Given the description of an element on the screen output the (x, y) to click on. 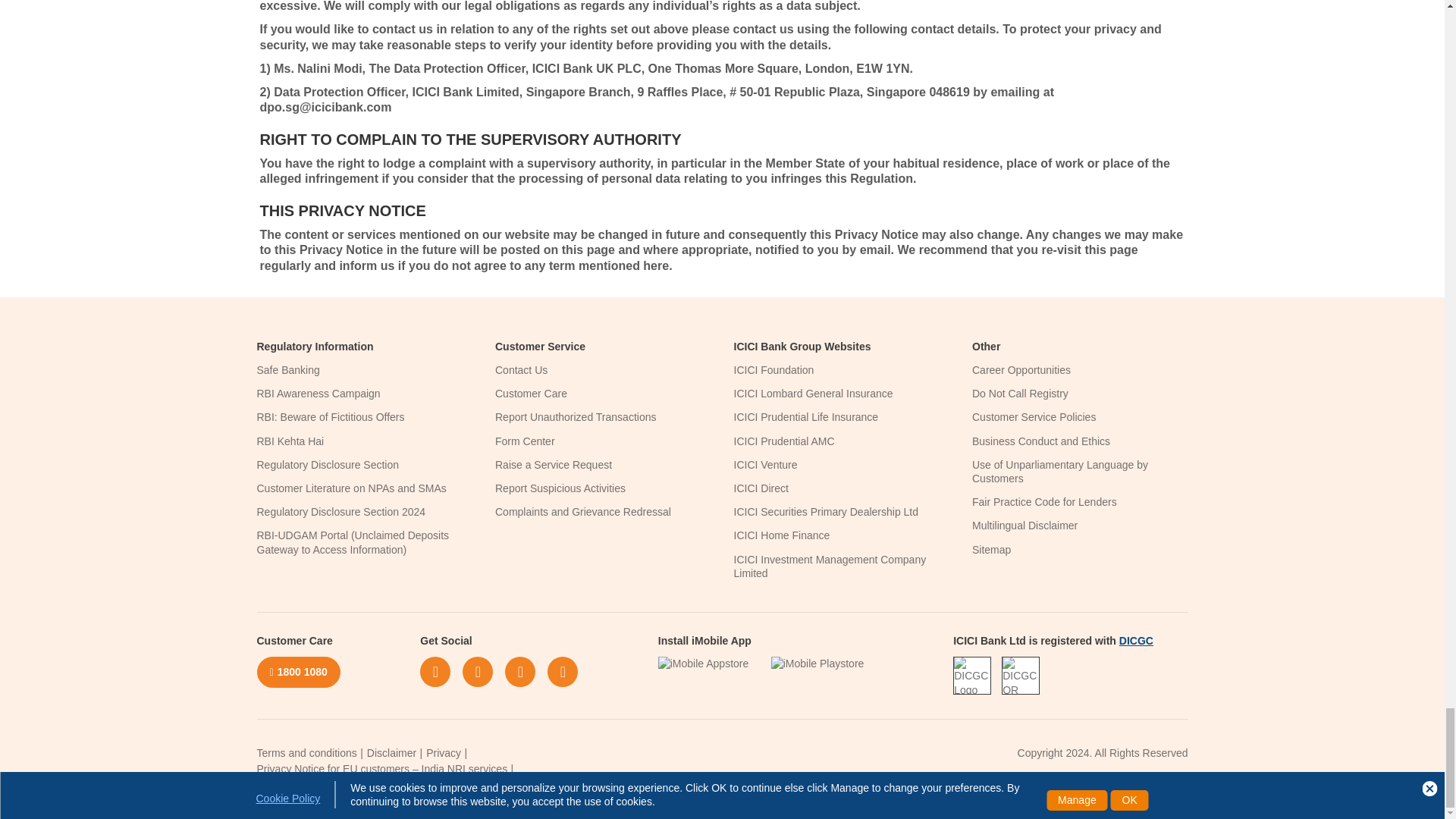
RBI Awareness Campaign (318, 393)
RBI: Beware of Fictitious Offers (330, 417)
Safe Banking (287, 369)
Safe Banking (287, 369)
RBI Awareness Campaign (318, 393)
RBI Kehta Hai (289, 440)
RBI: Beware of Fictitious Offers (330, 417)
